Given the description of an element on the screen output the (x, y) to click on. 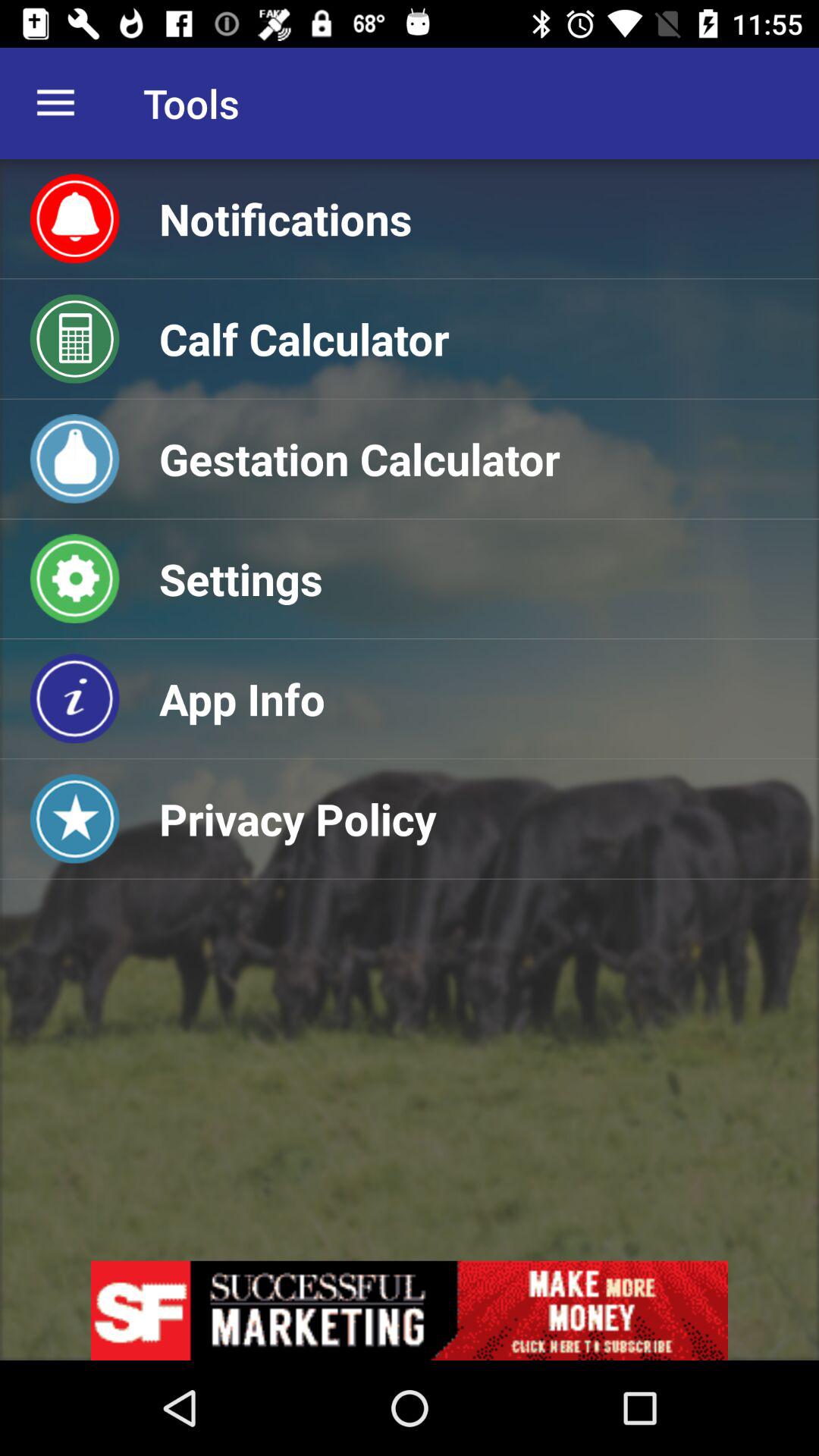
advertisement (409, 1310)
